Given the description of an element on the screen output the (x, y) to click on. 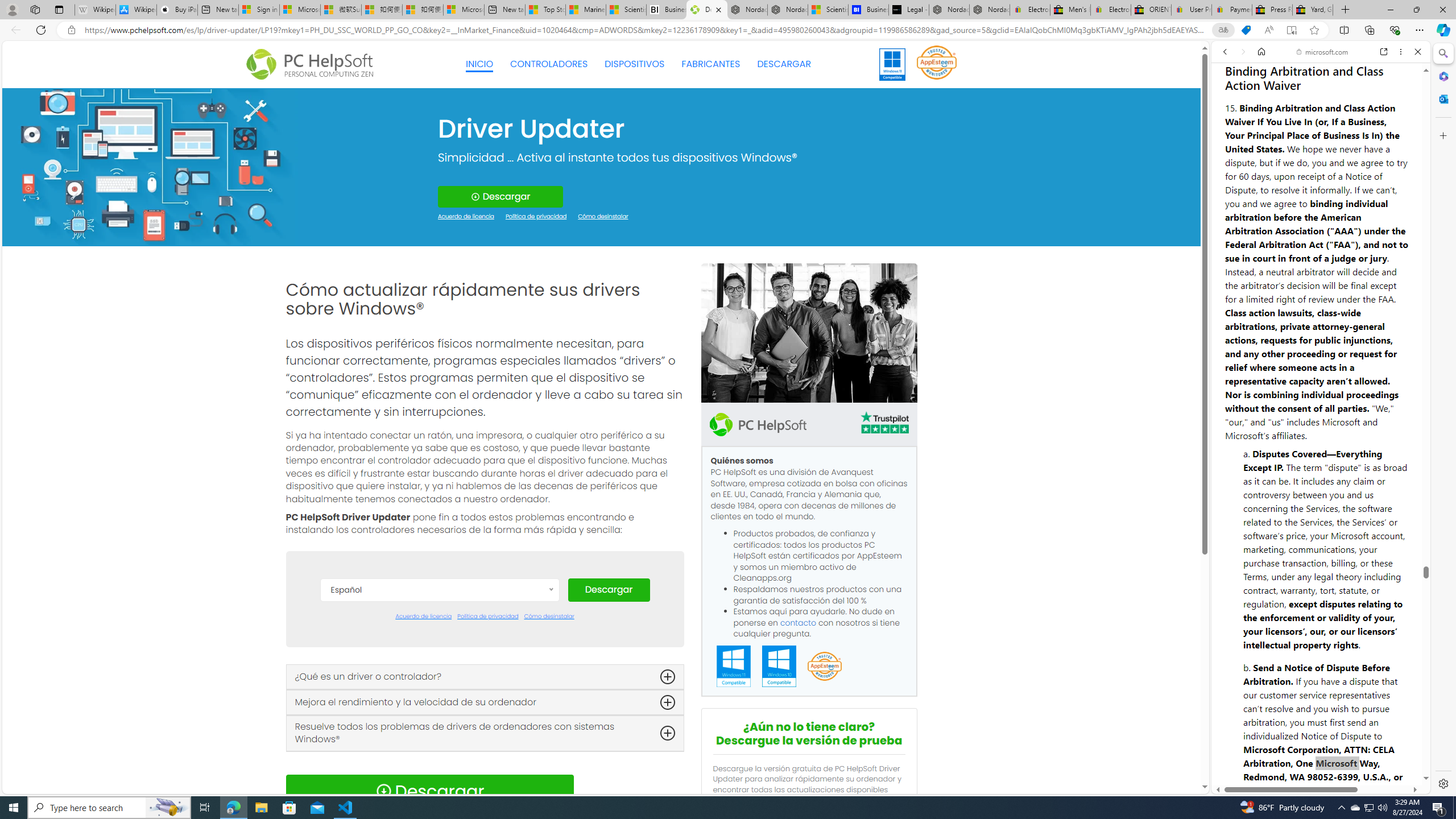
Norsk (439, 780)
CONTROLADORES (548, 64)
Download Icon Descargar (429, 790)
